Given the description of an element on the screen output the (x, y) to click on. 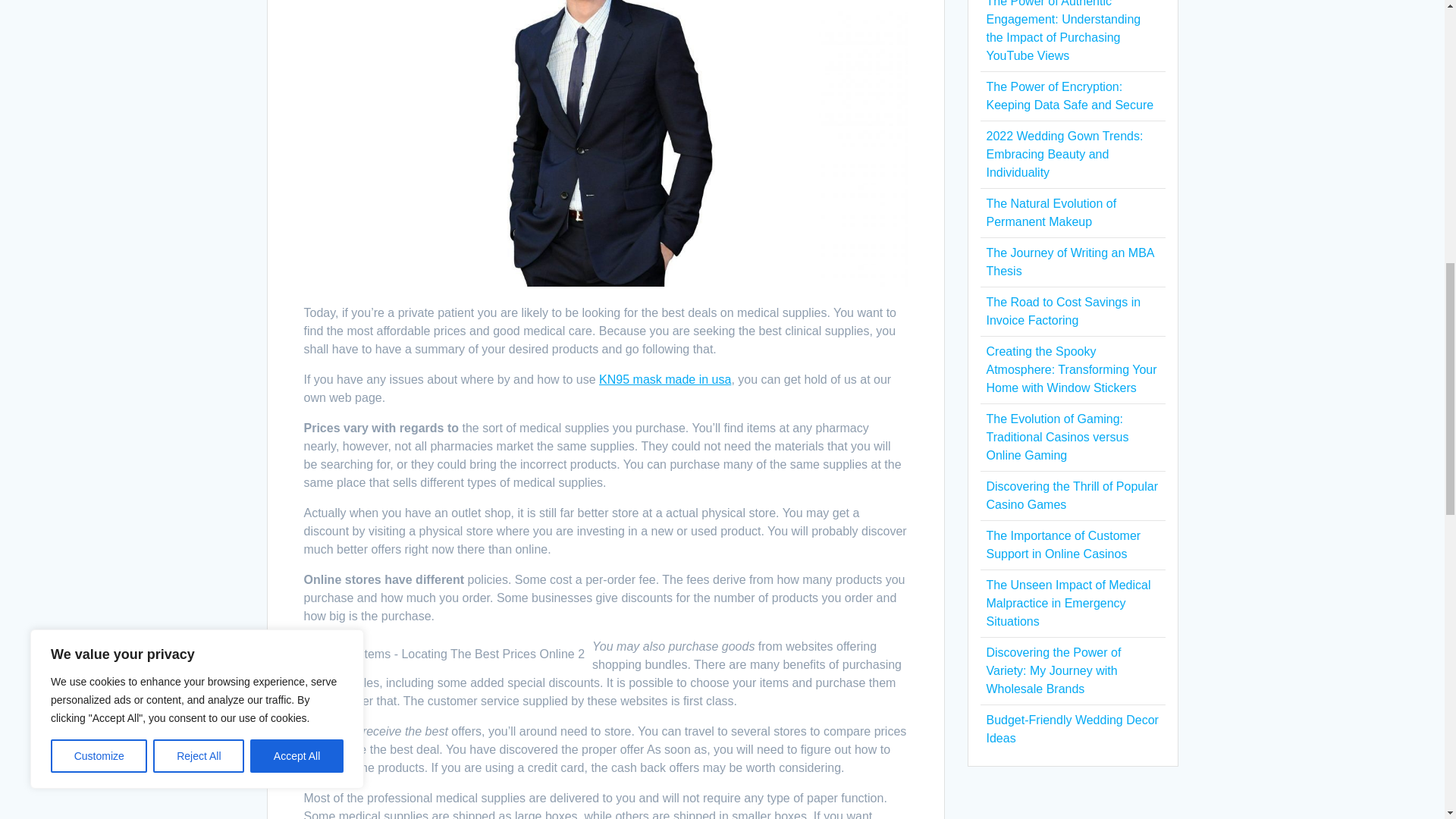
KN95 mask made in usa (664, 379)
Eco-Friendly Practices for Maintaining Viking Appliances (1065, 144)
